Given the description of an element on the screen output the (x, y) to click on. 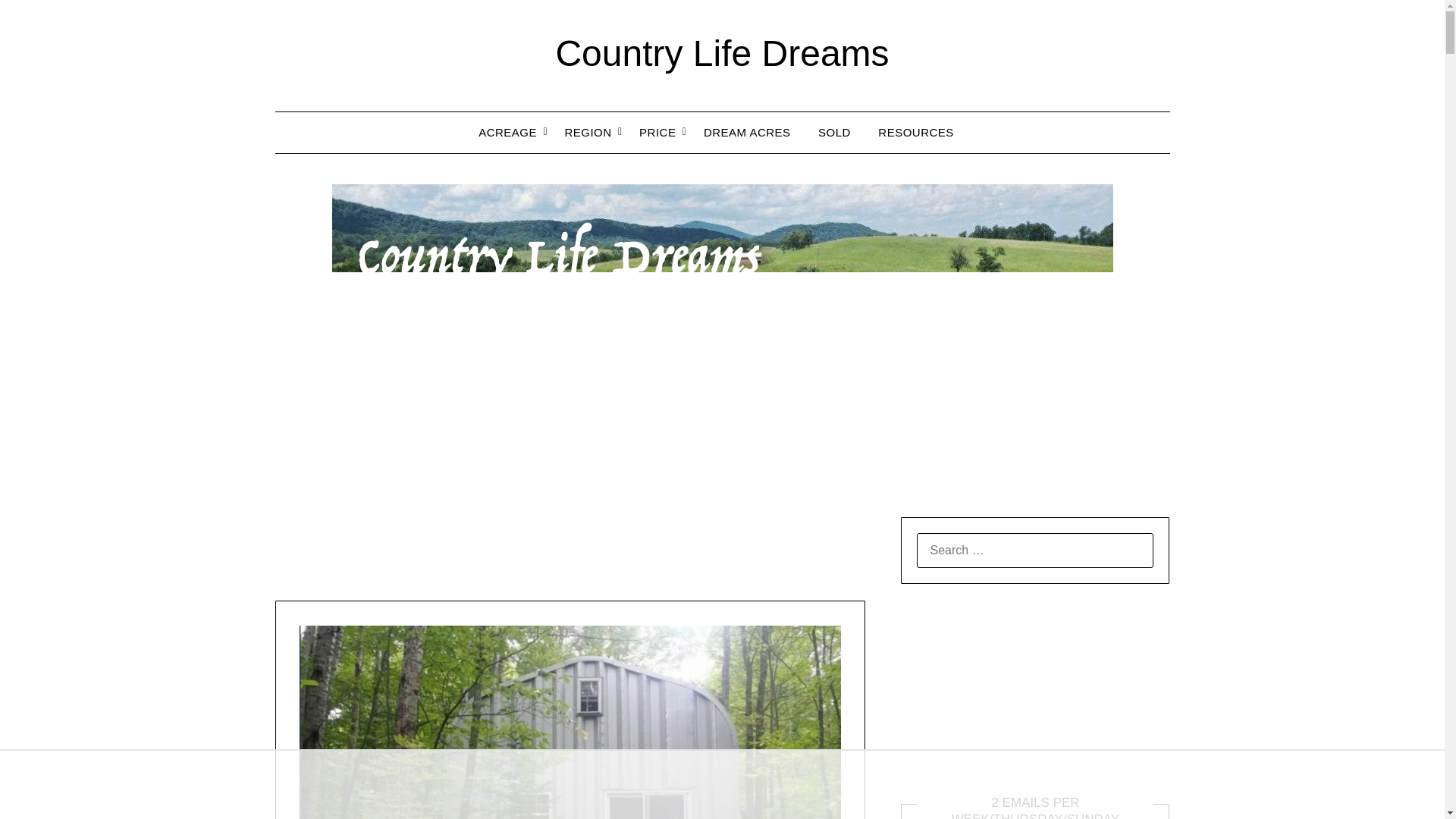
DREAM ACRES (747, 132)
SOLD (834, 132)
PRICE (657, 132)
RESOURCES (916, 132)
REGION (587, 132)
Country Life Dreams (721, 53)
ACREAGE (513, 132)
